Given the description of an element on the screen output the (x, y) to click on. 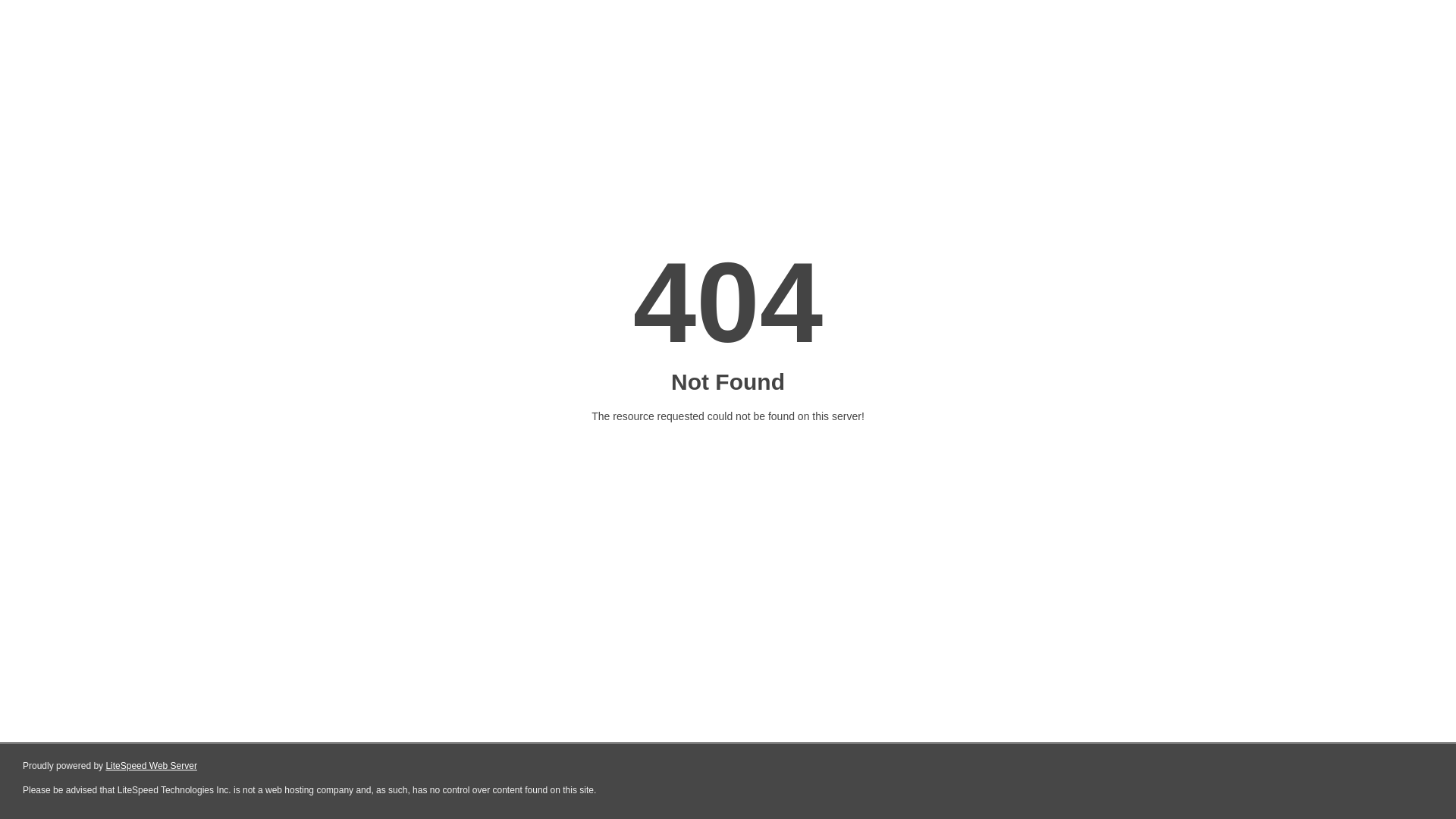
LiteSpeed Web Server Element type: text (151, 765)
